Given the description of an element on the screen output the (x, y) to click on. 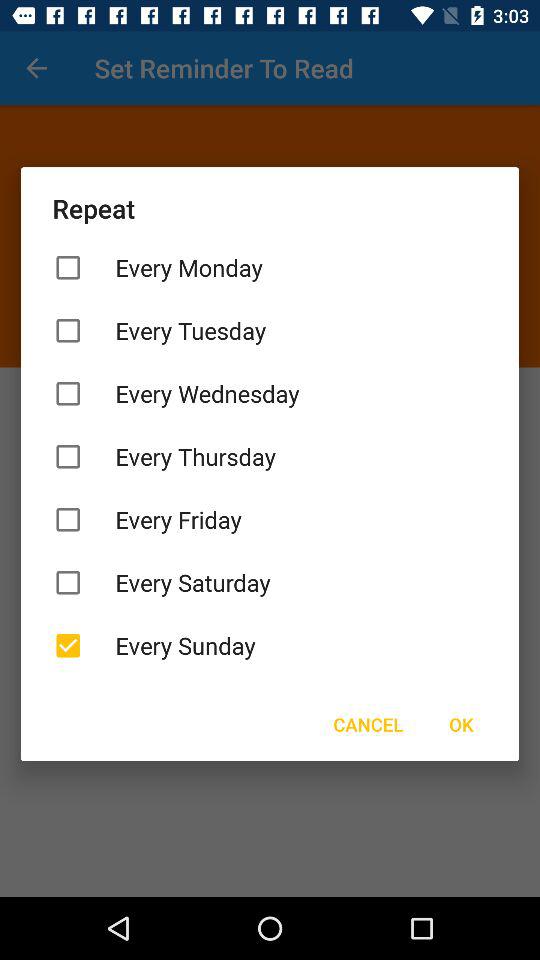
turn on icon below the every sunday item (368, 724)
